Given the description of an element on the screen output the (x, y) to click on. 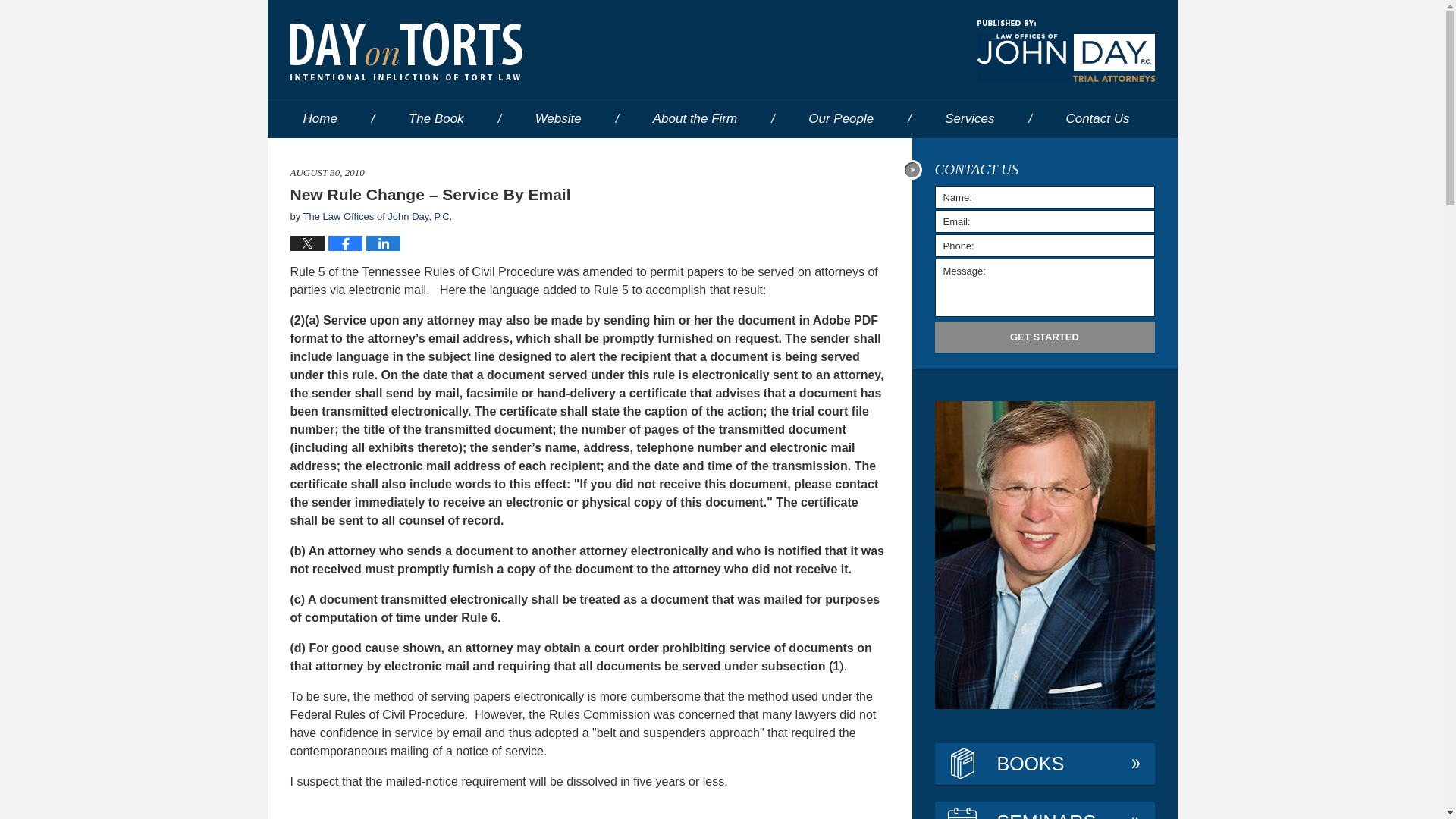
Services (968, 118)
Day on Torts (405, 51)
SEMINARS (1044, 810)
About the Firm (695, 118)
Home (319, 118)
BOOKS (1044, 764)
The Law Offices of John Day, P.C. (377, 215)
Contact Us (1096, 118)
Published By The Law Offices of John Day, P.C. (1065, 50)
GET STARTED (1044, 337)
Our People (840, 118)
The Book (435, 118)
Website (558, 118)
Please enter a valid phone number. (1044, 245)
